Given the description of an element on the screen output the (x, y) to click on. 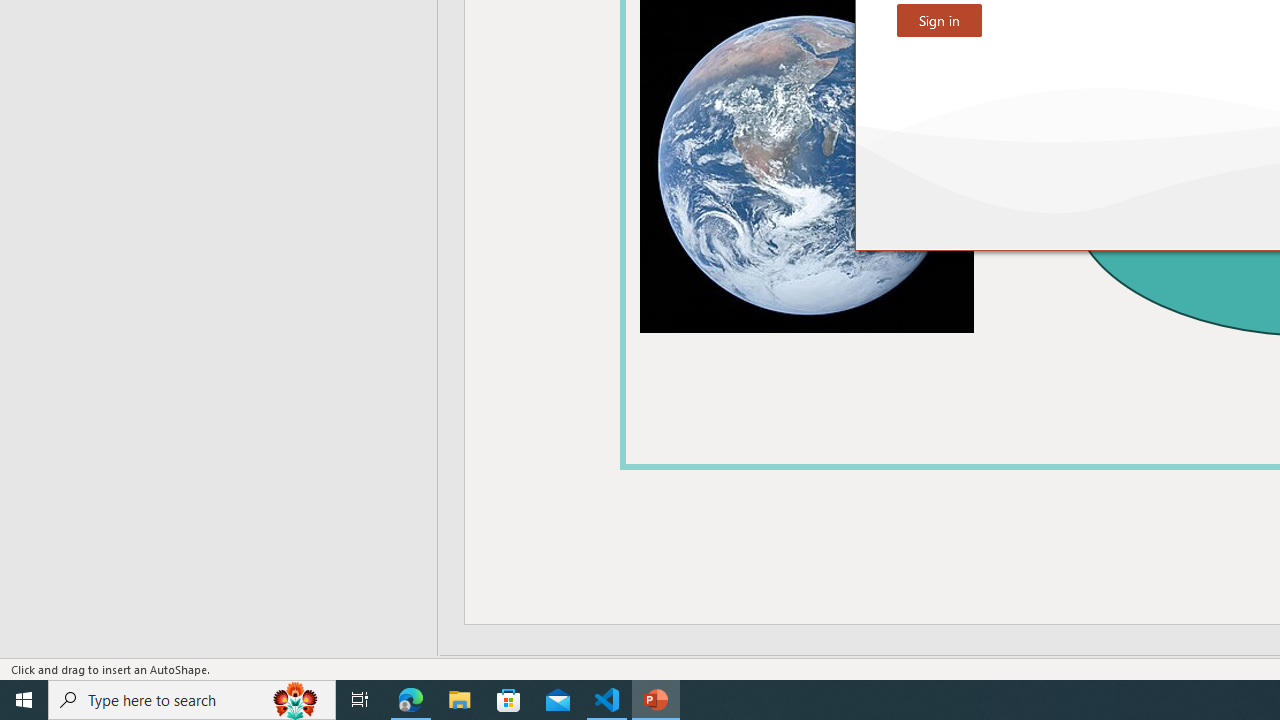
Sign in (939, 20)
